Given the description of an element on the screen output the (x, y) to click on. 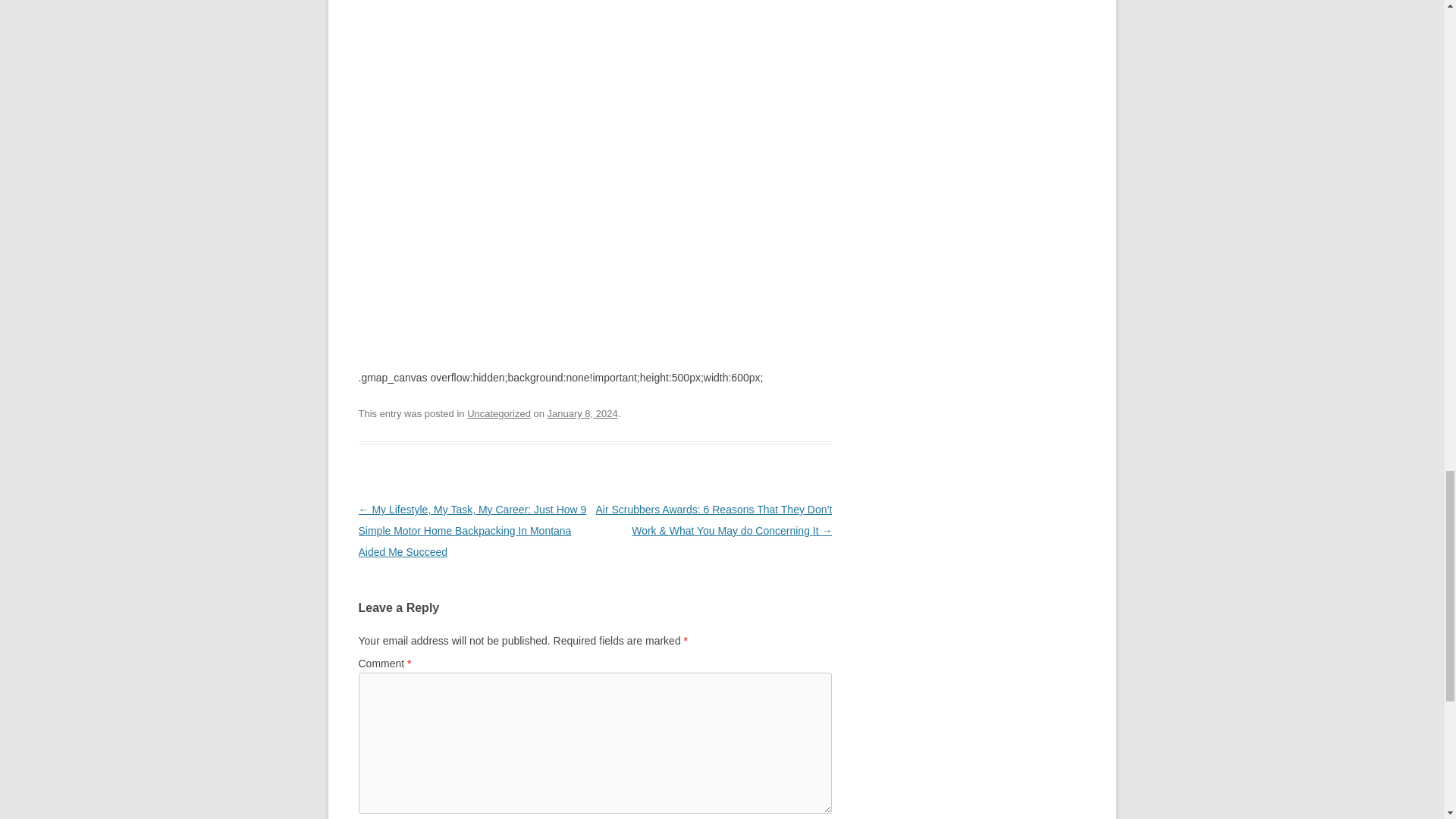
5:09 pm (582, 413)
Uncategorized (499, 413)
January 8, 2024 (582, 413)
